Given the description of an element on the screen output the (x, y) to click on. 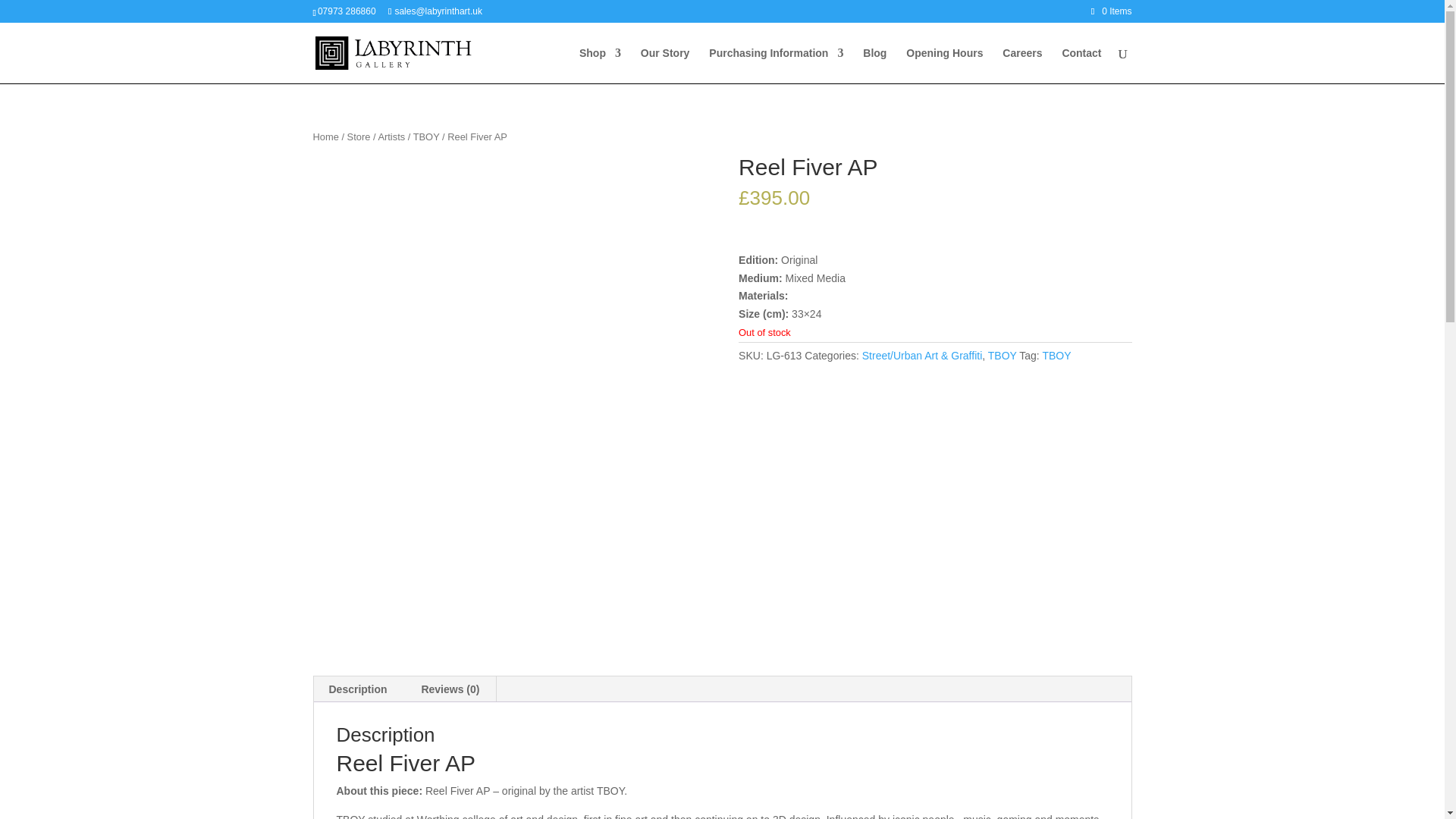
Shop (600, 65)
0 Items (1111, 10)
